Given the description of an element on the screen output the (x, y) to click on. 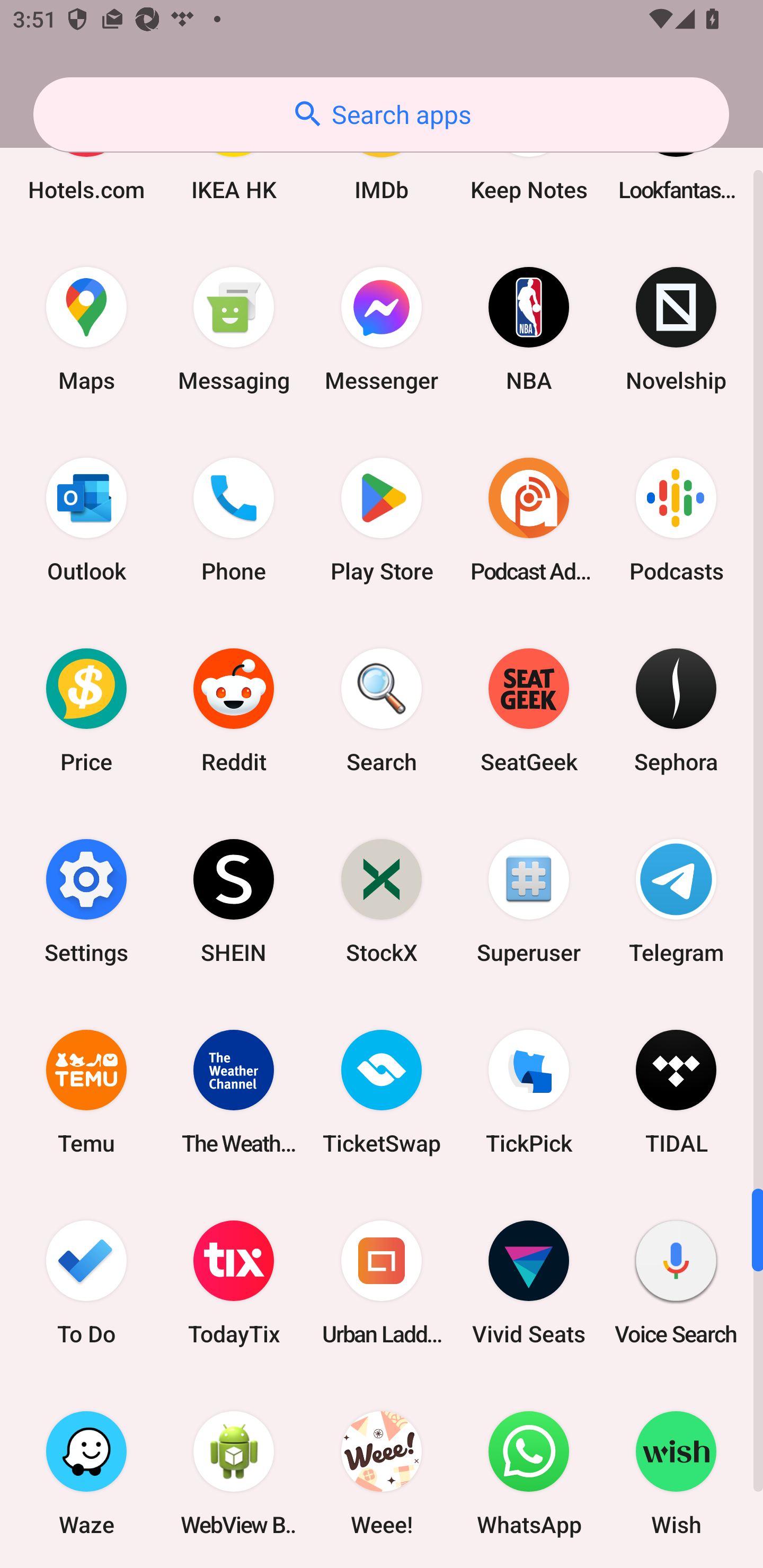
To Do (86, 1282)
